Given the description of an element on the screen output the (x, y) to click on. 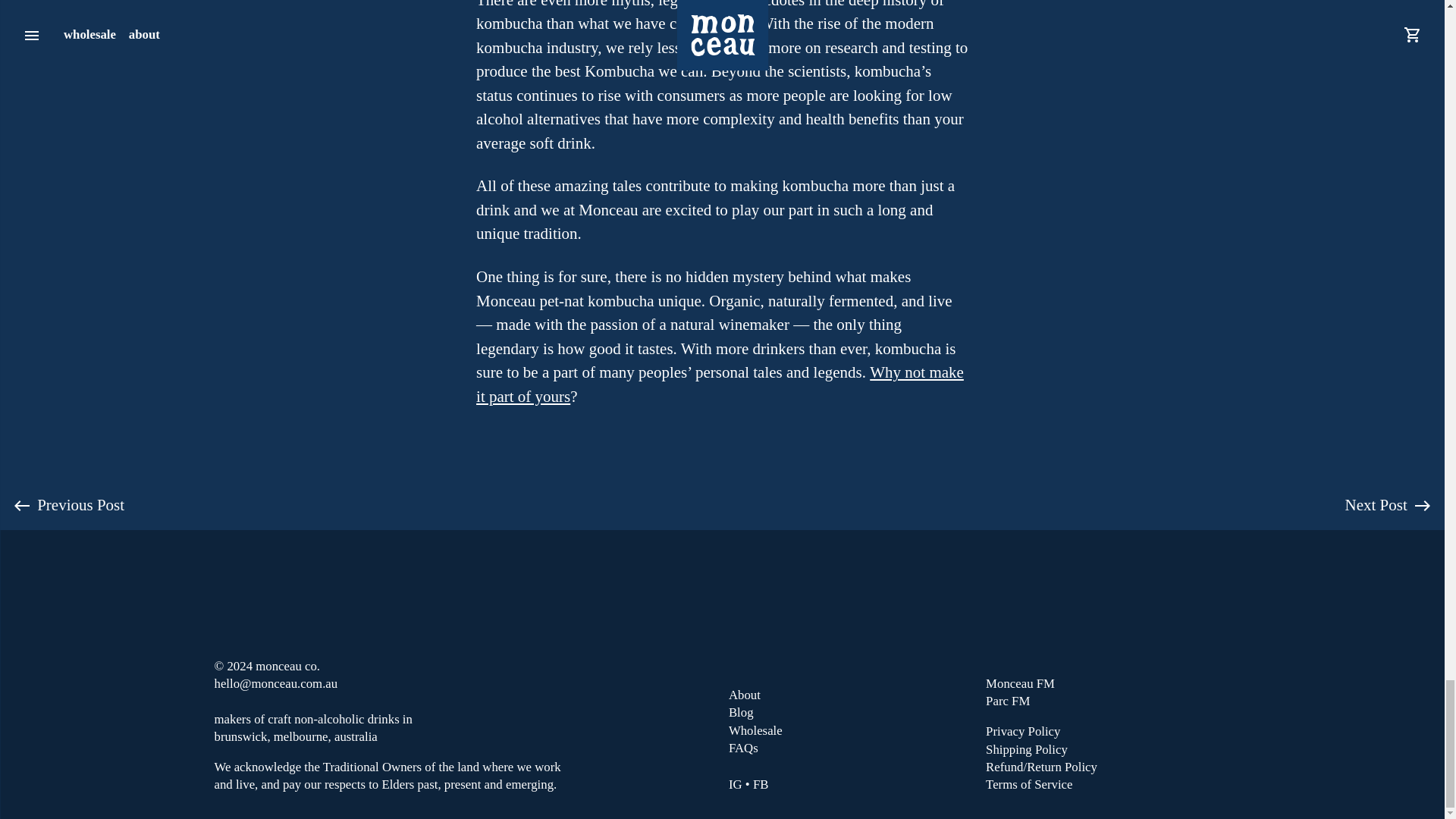
Previous Post (68, 505)
Terms of Service (1107, 784)
FAQs (850, 747)
Parc FM (1107, 701)
Shipping Policy (1107, 749)
Blog (850, 712)
Why not make it part of yours (719, 384)
FB (760, 784)
Monceau FM (1107, 683)
Privacy Policy (1107, 731)
